Given the description of an element on the screen output the (x, y) to click on. 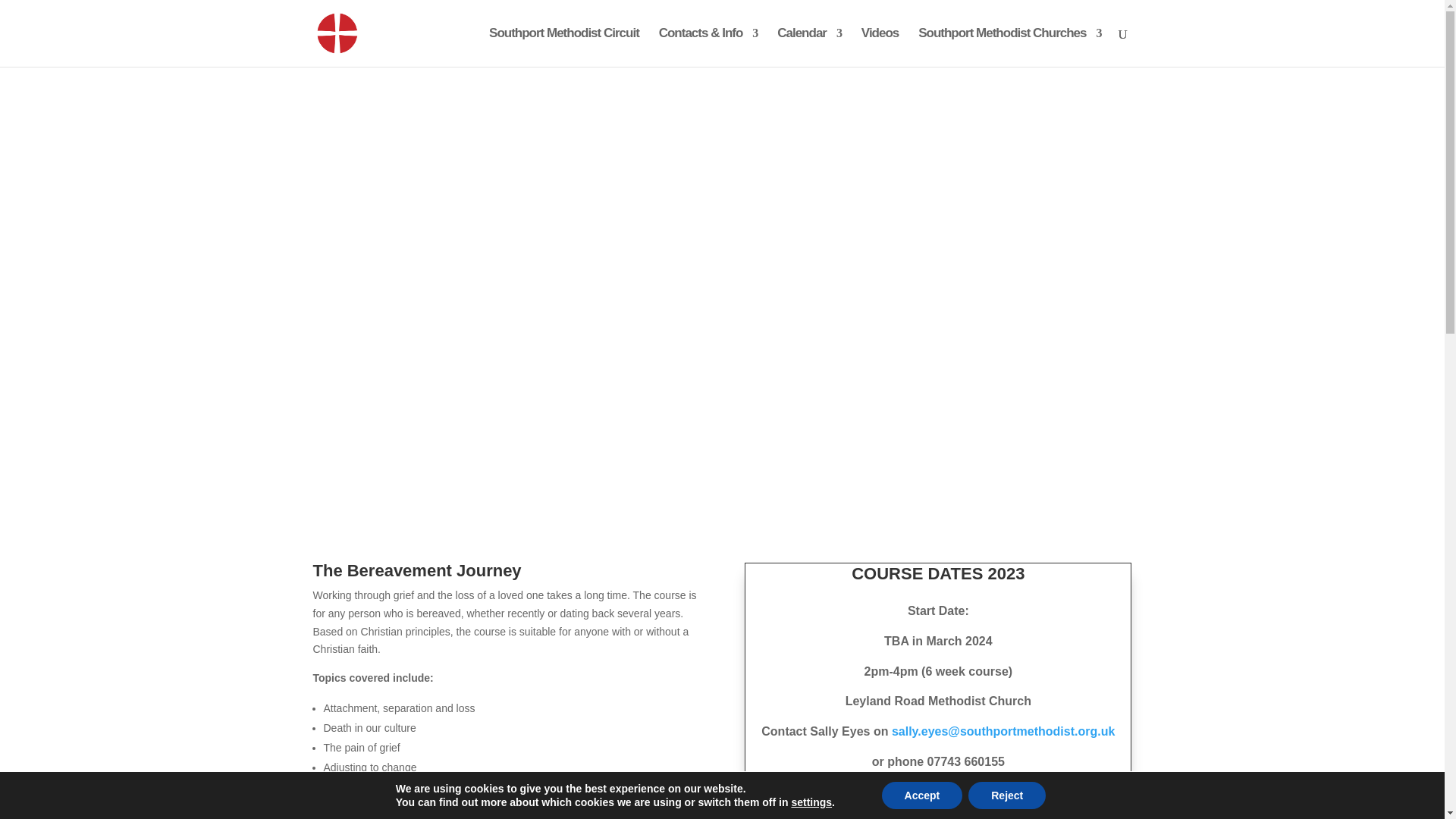
Southport Methodist Churches (1009, 46)
Southport Methodist Circuit (564, 46)
Videos (879, 46)
Calendar (809, 46)
